Given the description of an element on the screen output the (x, y) to click on. 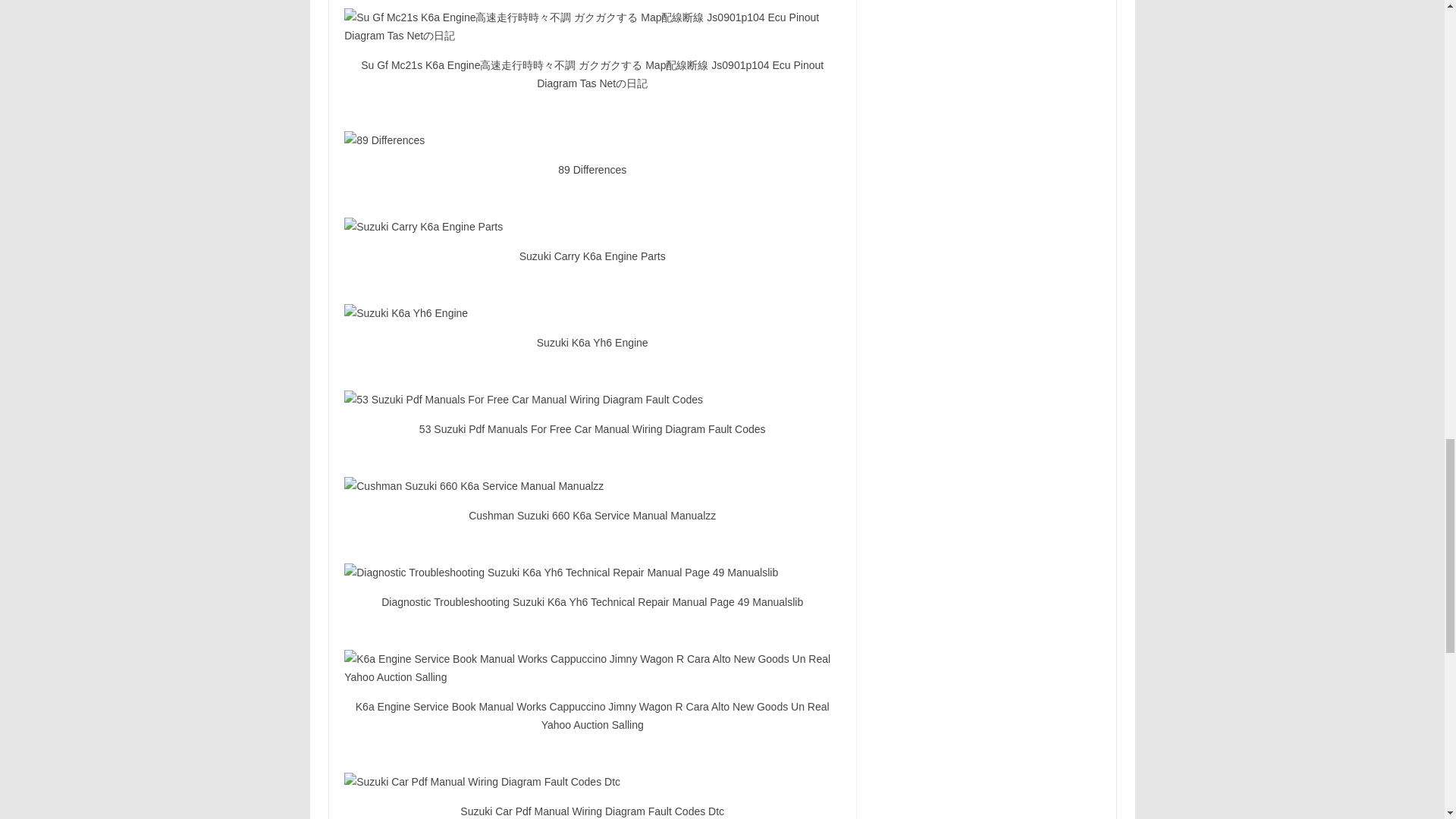
89 Differences (591, 140)
Suzuki Carry K6a Engine Parts (591, 226)
Cushman Suzuki 660 K6a Service Manual Manualzz (591, 485)
Suzuki K6a Yh6 Engine (591, 312)
